Given the description of an element on the screen output the (x, y) to click on. 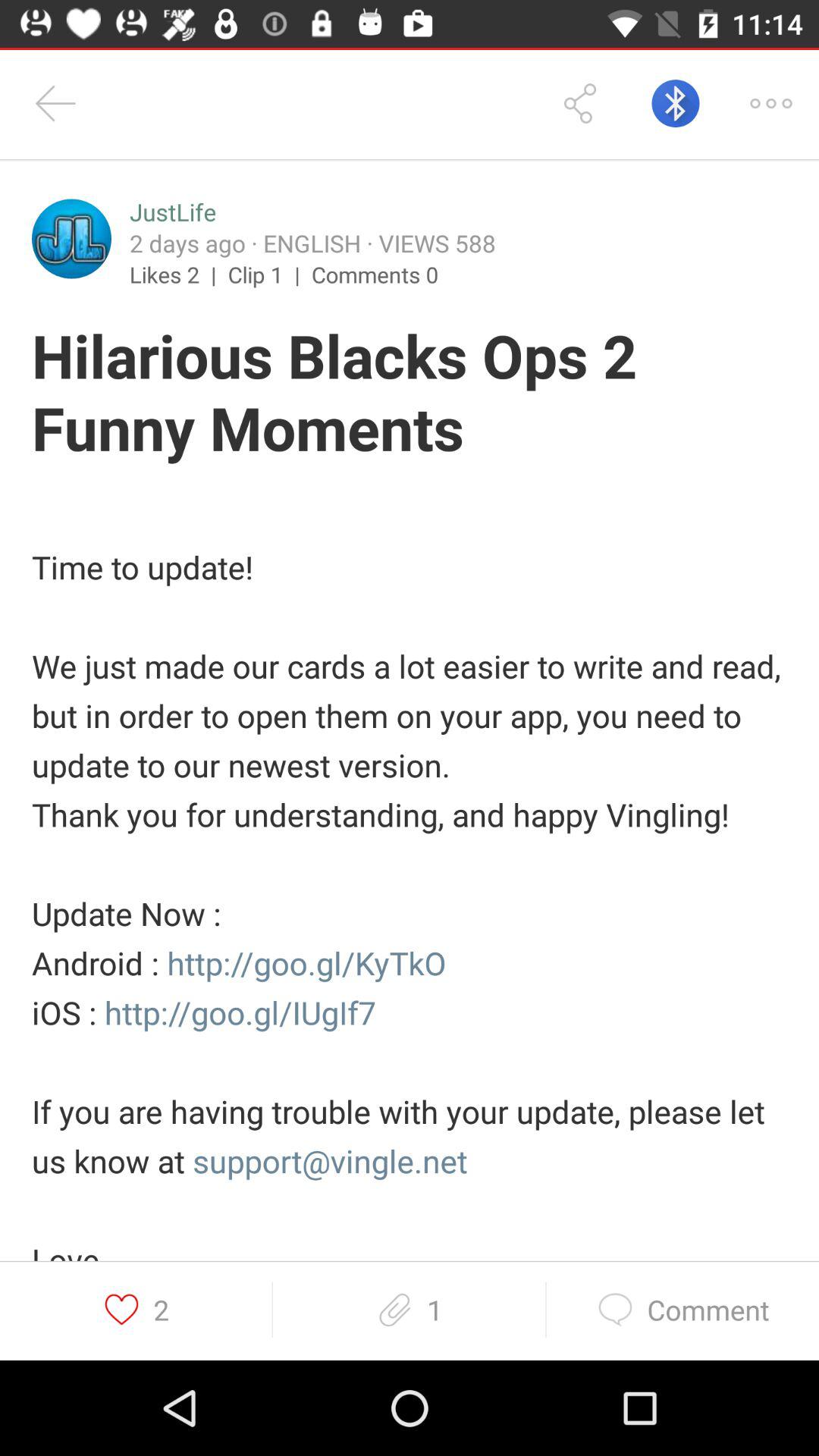
turn on the item to the right of the clip 1  | (374, 274)
